Given the description of an element on the screen output the (x, y) to click on. 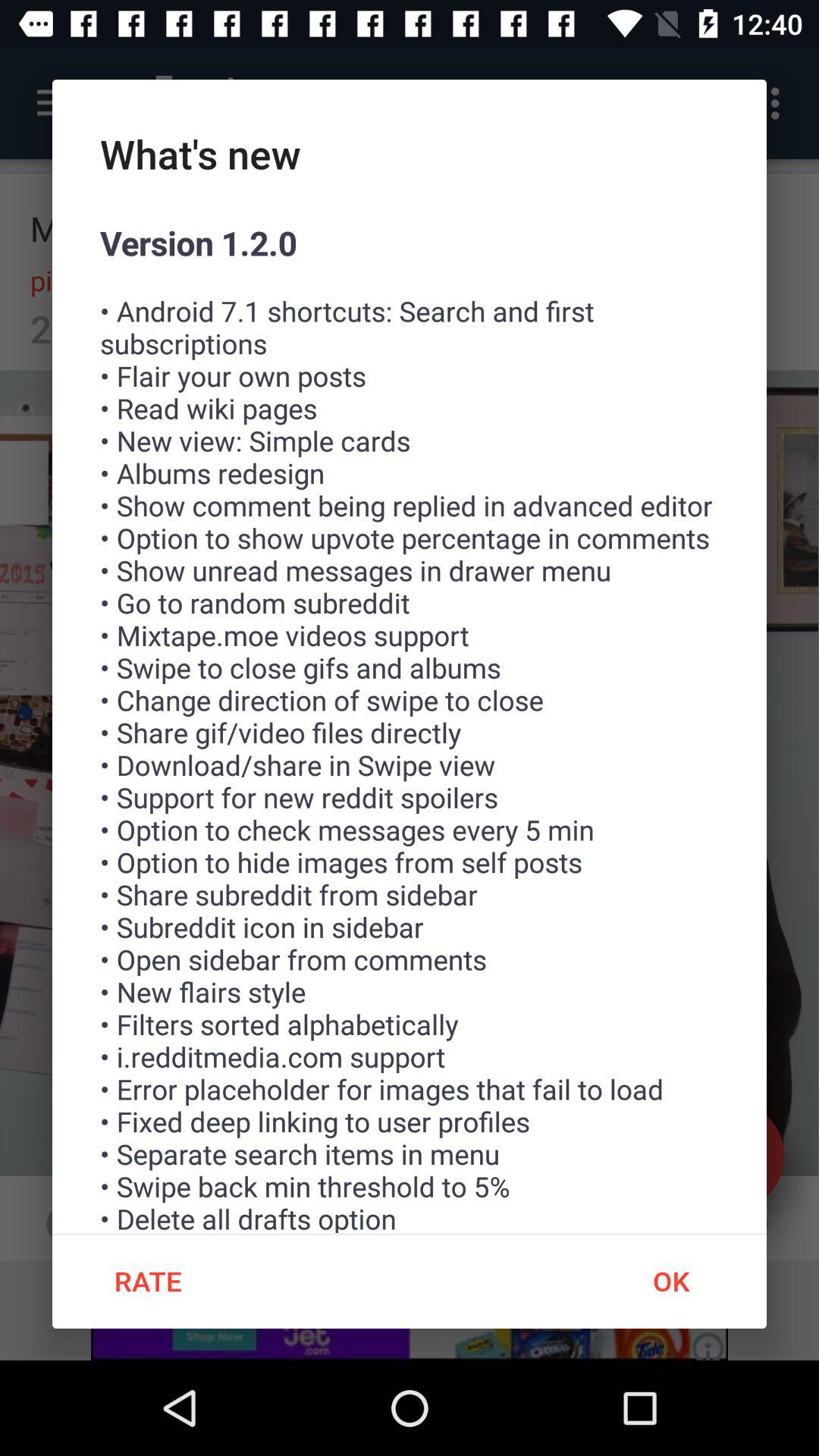
press item above rate icon (409, 726)
